Given the description of an element on the screen output the (x, y) to click on. 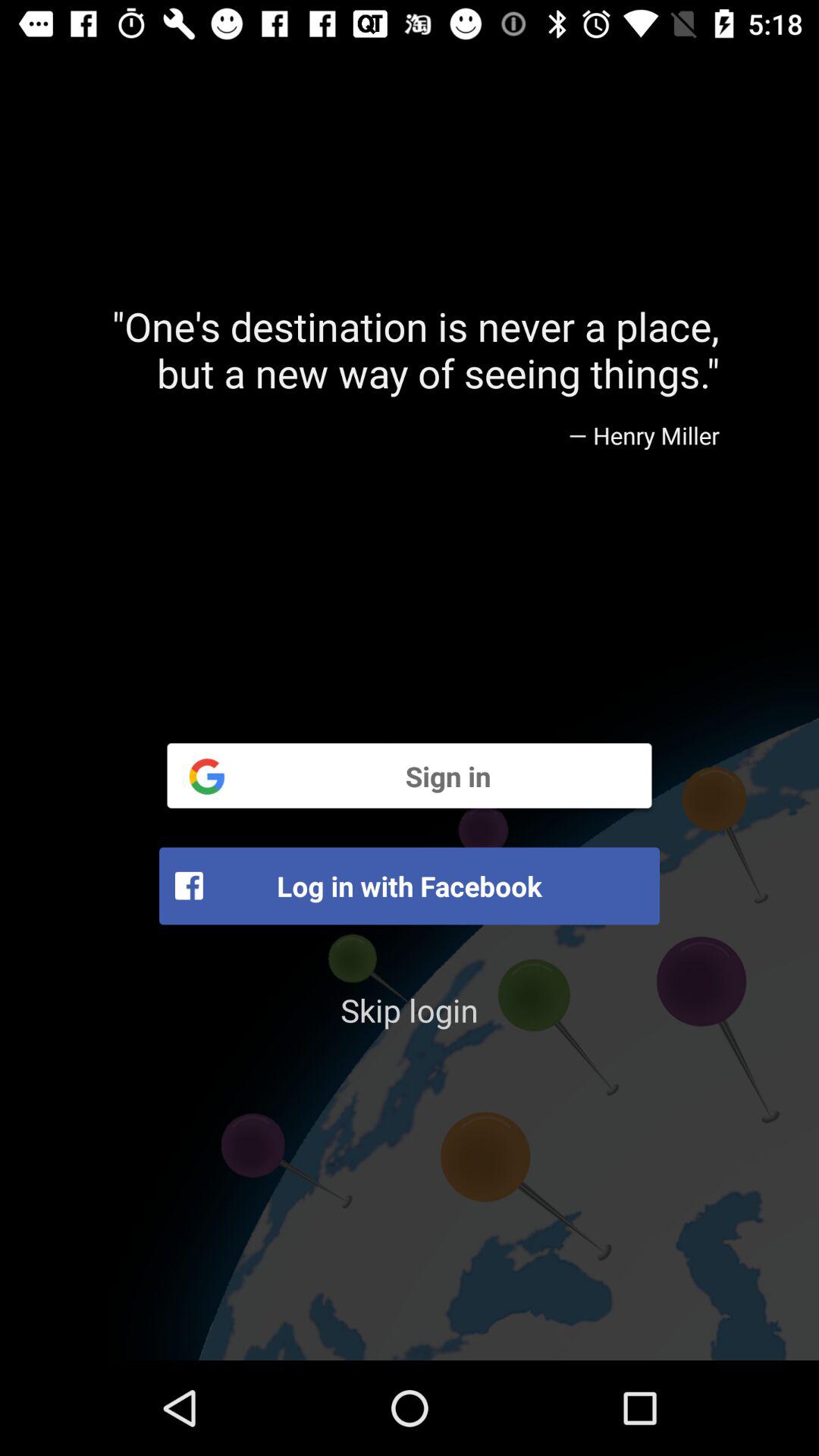
press the item below the sign in icon (409, 885)
